Given the description of an element on the screen output the (x, y) to click on. 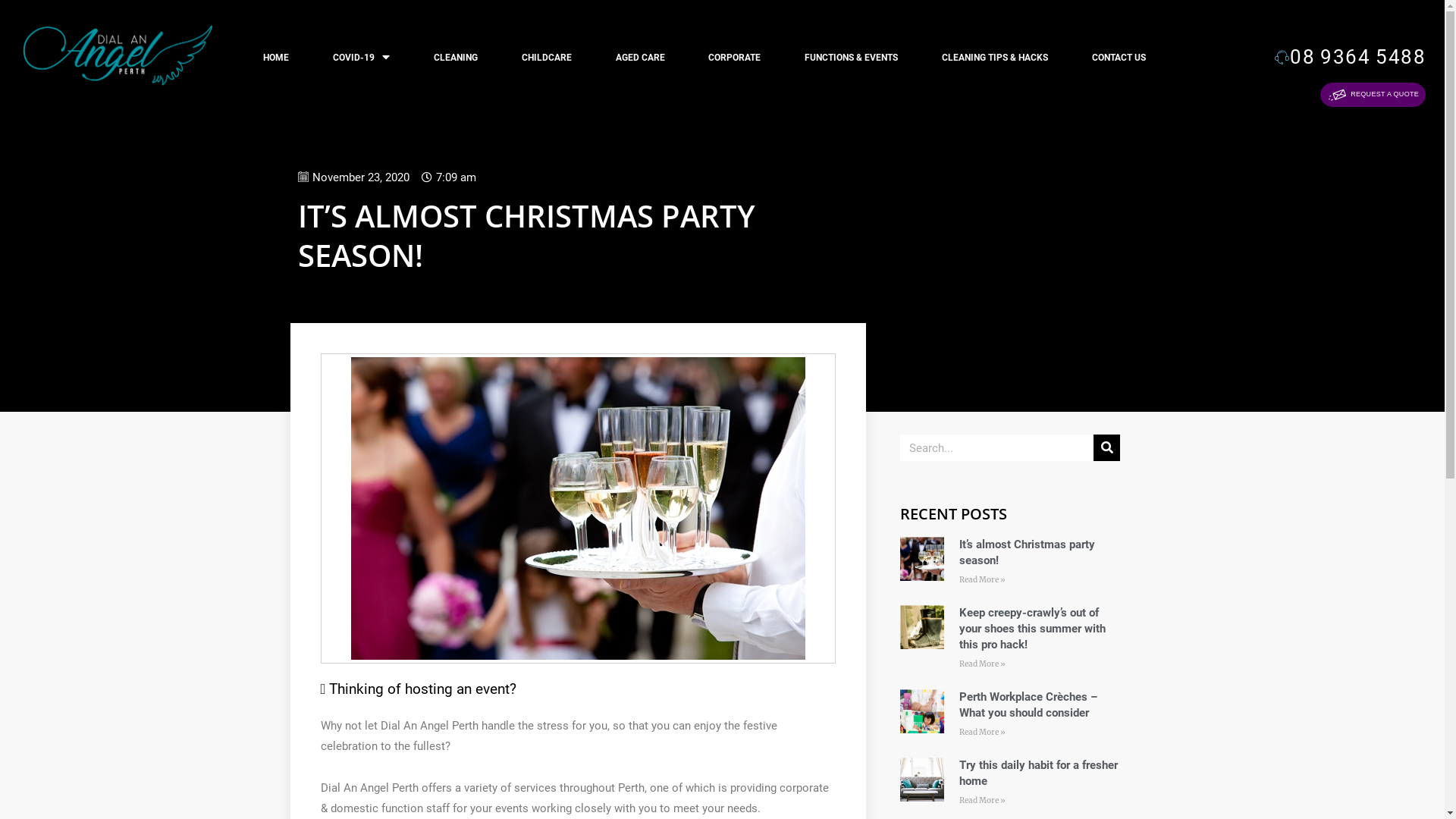
November 23, 2020 Element type: text (352, 177)
CORPORATE Element type: text (735, 57)
CLEANING TIPS & HACKS Element type: text (994, 57)
CLEANING Element type: text (455, 57)
FUNCTIONS & EVENTS Element type: text (850, 57)
Search Element type: hover (996, 447)
COVID-19 Element type: text (360, 57)
Search Element type: hover (1106, 447)
CHILDCARE Element type: text (546, 57)
HOME Element type: text (275, 57)
Try this daily habit for a fresher home Element type: text (1038, 772)
08 9364 5488 Element type: text (1349, 56)
REQUEST A QUOTE Element type: text (1372, 94)
AGED CARE Element type: text (640, 57)
CONTACT US Element type: text (1118, 57)
